Given the description of an element on the screen output the (x, y) to click on. 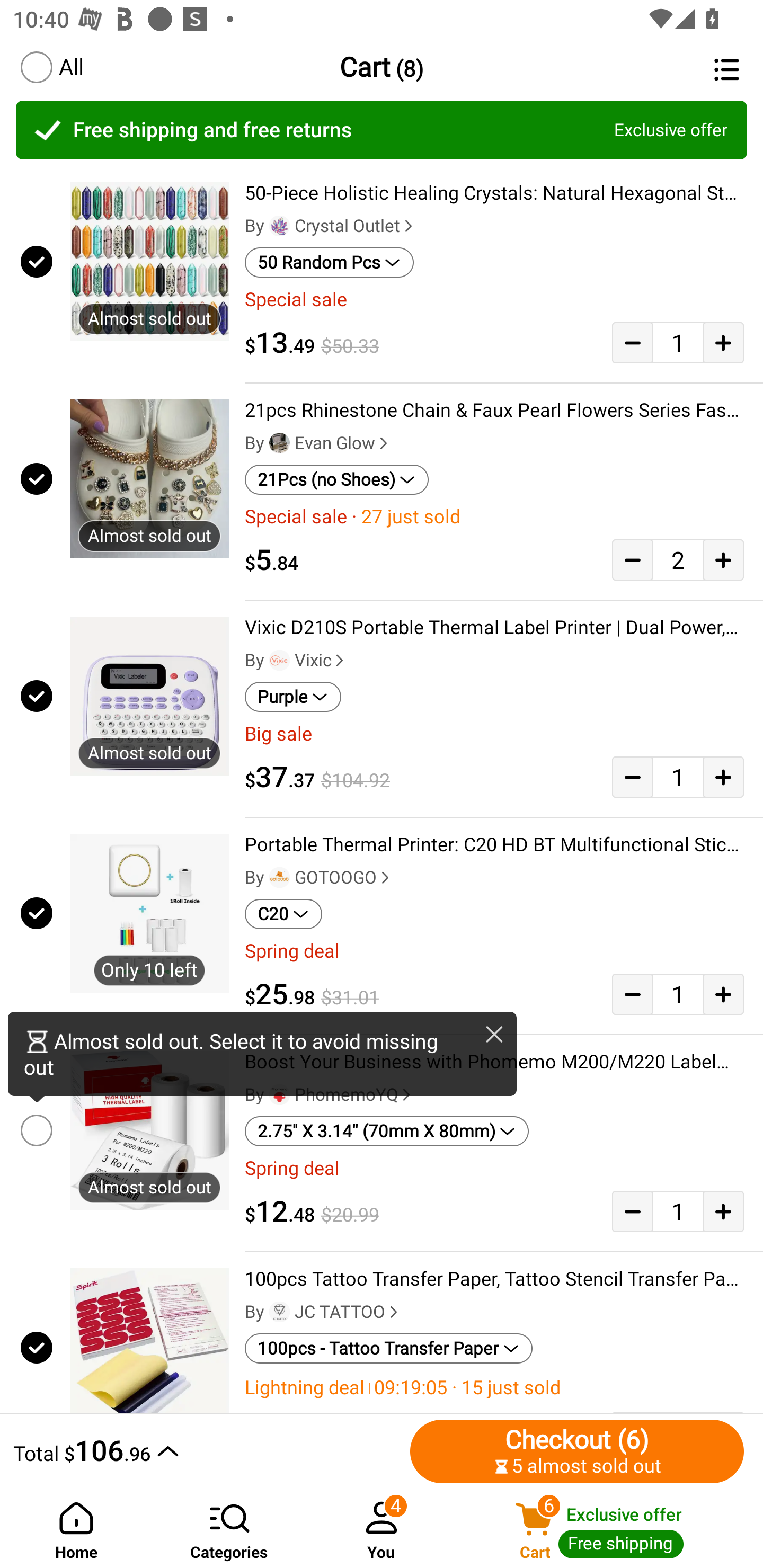
Select all tick button All (51, 67)
Free shipping and free returns Exclusive offer (381, 129)
Product checkbox checked (35, 260)
By Crystal Outlet (330, 226)
50 Random Pcs (328, 262)
Special sale (493, 299)
Decrease quantity button (632, 342)
1 (677, 342)
Add quantity button (722, 342)
Product checkbox checked (35, 478)
By Evan Glow (317, 442)
21Pcs (no Shoes) (336, 479)
Special sale · 27 just sold (493, 517)
Decrease quantity button (632, 559)
2 (677, 559)
Add quantity button (722, 559)
Product checkbox checked (35, 696)
By Vixic (295, 660)
Purple (292, 696)
Decrease quantity button (632, 776)
1 (677, 776)
Add quantity button (722, 776)
Product checkbox checked (35, 913)
By GOTOOGO (318, 877)
C20 (282, 913)
Spring deal (493, 951)
Decrease quantity button (632, 993)
1 (677, 993)
Add quantity button (722, 993)
Product checkbox uncheck (35, 1130)
2.75'' X 3.14'' (70mm X 80mm) (386, 1131)
Spring deal (493, 1168)
Decrease quantity button (632, 1211)
1 (677, 1211)
Add quantity button (722, 1211)
Product checkbox checked (35, 1344)
By JC TATTOO (322, 1311)
100pcs - Tattoo Transfer Paper (388, 1348)
Lightning deal | ￼ · 15 just sold (493, 1387)
Total $106.96 (206, 1450)
Checkout Checkout (6) ￼5 almost sold out (576, 1451)
Home (76, 1528)
Categories (228, 1528)
You 4 You (381, 1528)
Cart 6 Cart Exclusive offer (610, 1528)
